Given the description of an element on the screen output the (x, y) to click on. 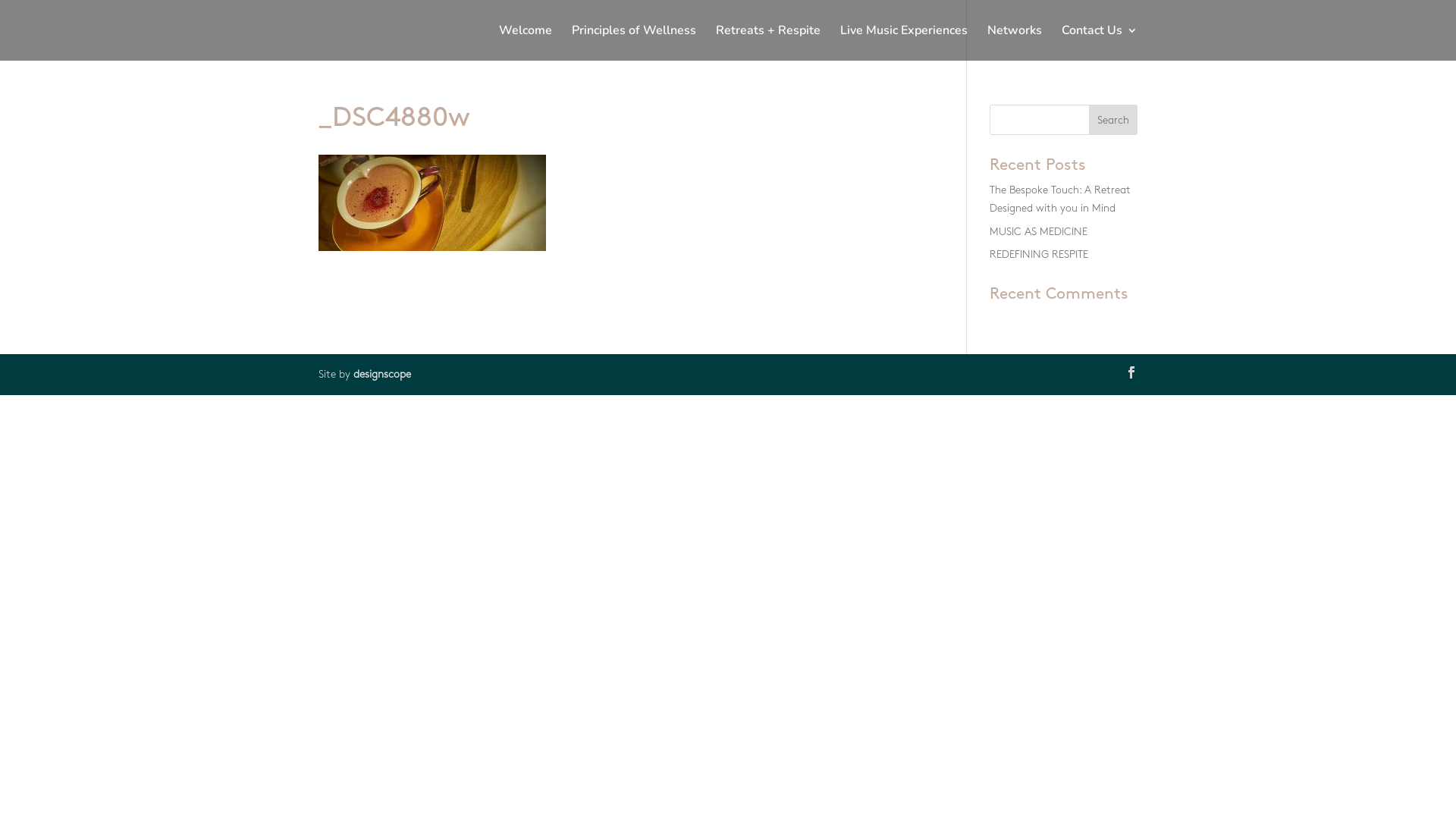
Live Music Experiences Element type: text (903, 42)
Search Element type: text (1112, 119)
REDEFINING RESPITE Element type: text (1038, 254)
Retreats + Respite Element type: text (767, 42)
Principles of Wellness Element type: text (633, 42)
designscope Element type: text (382, 374)
Networks Element type: text (1014, 42)
Welcome Element type: text (525, 42)
MUSIC AS MEDICINE Element type: text (1038, 231)
The Bespoke Touch: A Retreat Designed with you in Mind Element type: text (1059, 199)
Contact Us Element type: text (1099, 42)
